Given the description of an element on the screen output the (x, y) to click on. 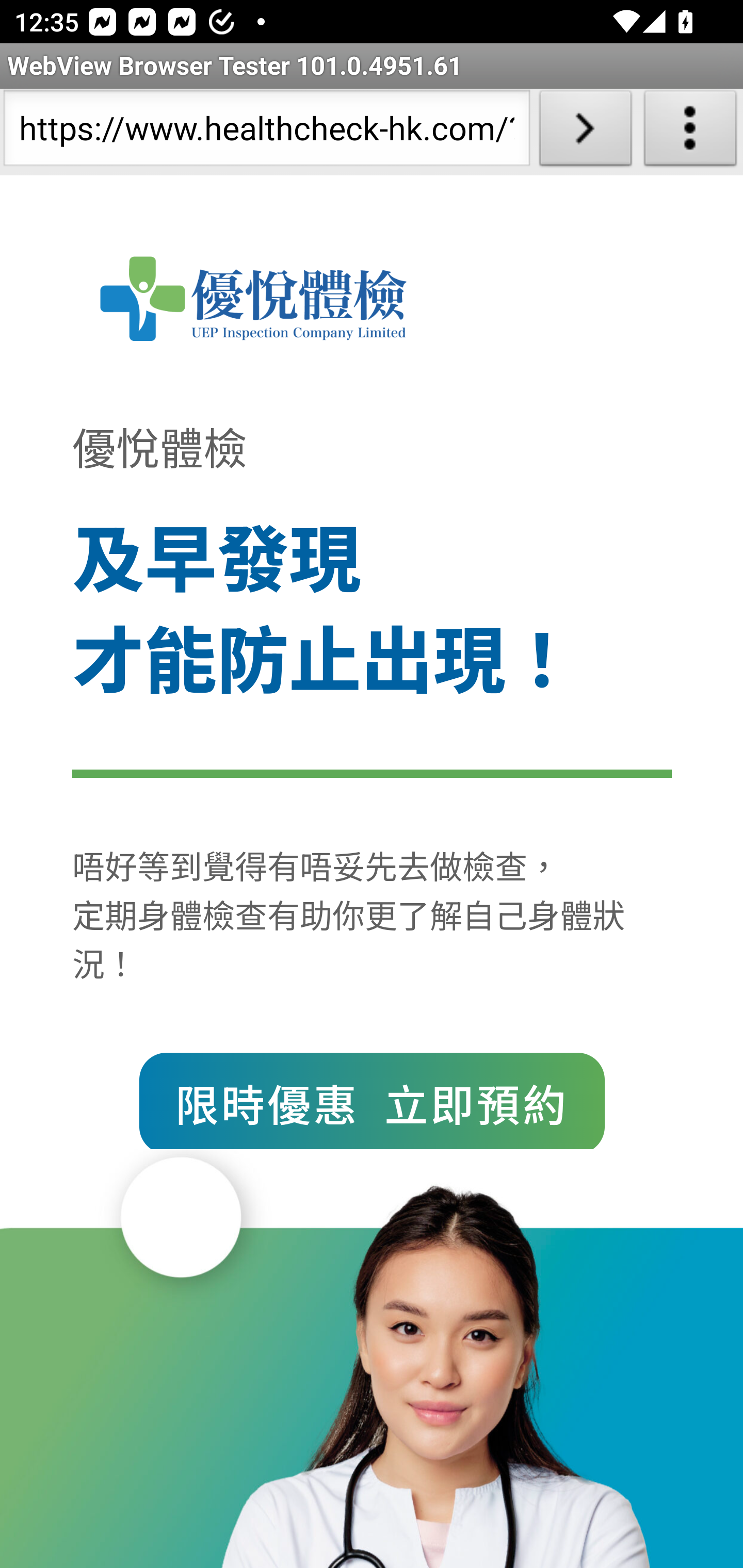
Load URL (585, 132)
About WebView (690, 132)
